Given the description of an element on the screen output the (x, y) to click on. 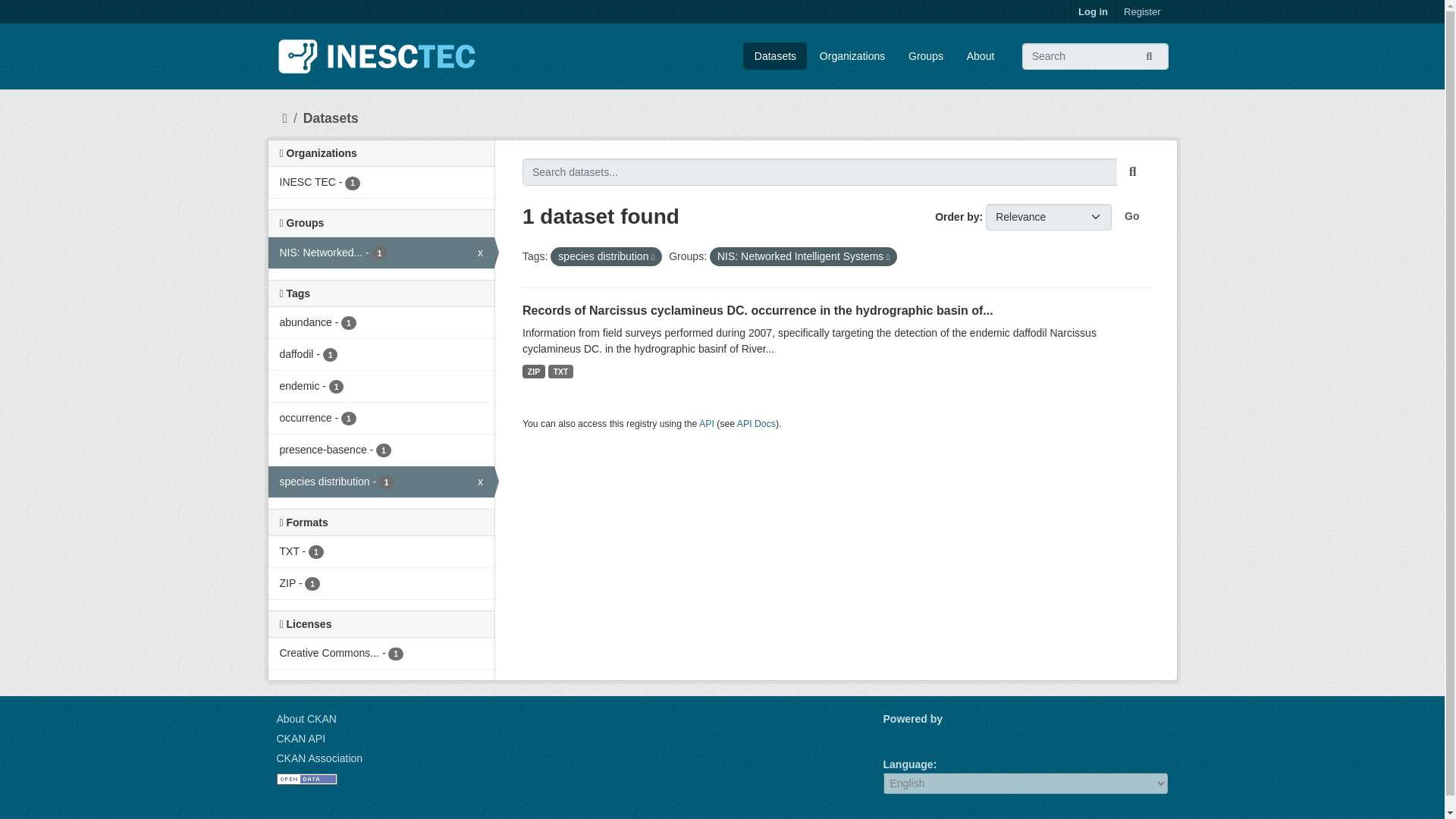
occurrence - 1 (381, 418)
abundance - 1 (381, 322)
INESC TEC - 1 (381, 182)
endemic - 1 (381, 386)
CKAN (908, 736)
About CKAN (306, 718)
API (706, 423)
search (1133, 171)
NIS: Networked Intelligent Systems (381, 252)
